Given the description of an element on the screen output the (x, y) to click on. 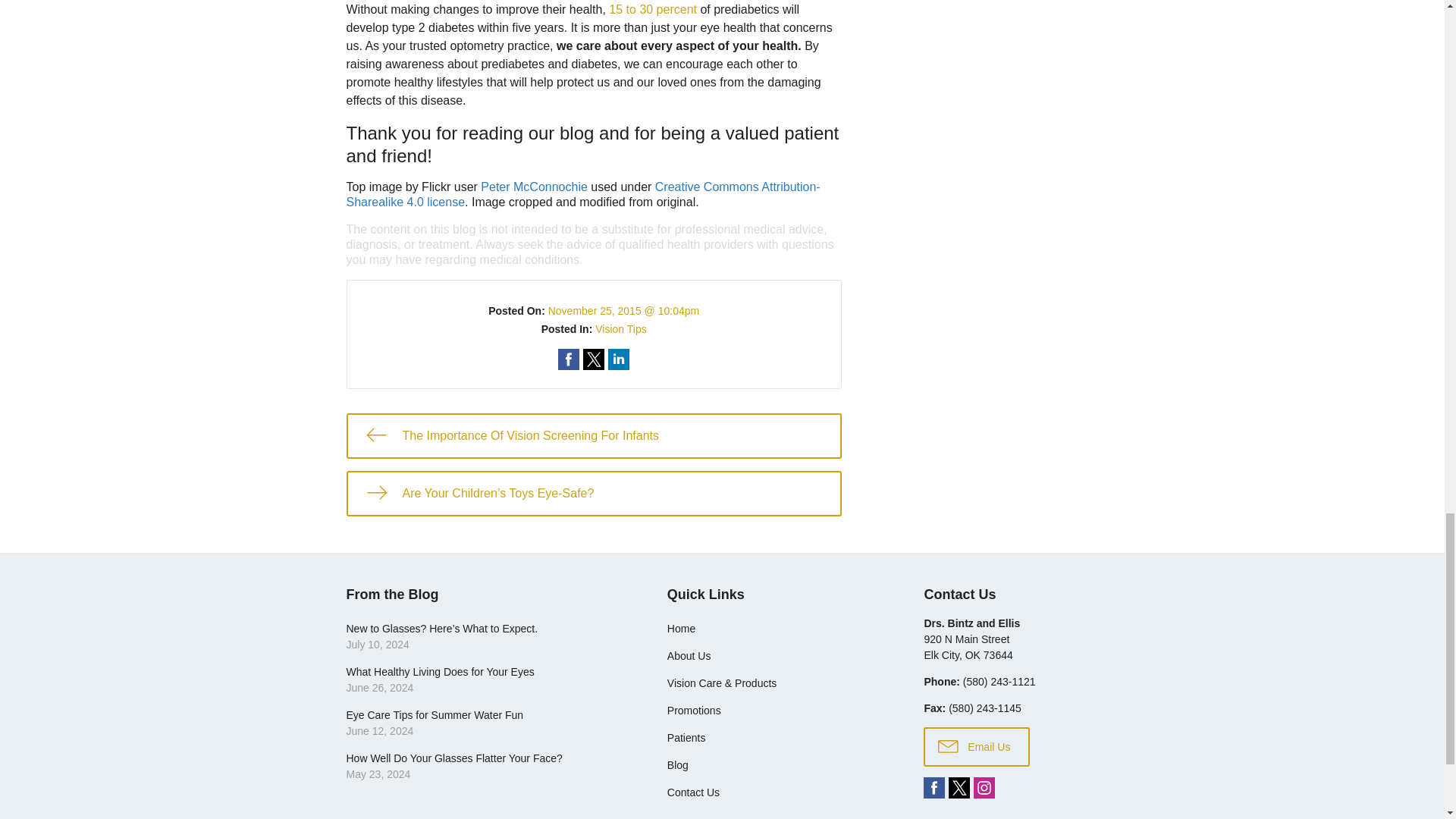
Go to our Instagram Page (984, 787)
The Importance Of Vision Screening For Infants (593, 435)
Share on LinkedIn (618, 359)
Share on Twitter (593, 359)
Vision Tips (620, 328)
Share on Facebook (568, 359)
Share on Twitter (593, 359)
Peter McConnochie (534, 186)
Creative Commons Attribution-Sharealike 4.0 license (582, 194)
Share on Facebook (568, 359)
15 to 30 percent (652, 9)
Share on LinkedIn (618, 359)
Go to our Facebook Page (933, 787)
Contact practice (998, 681)
Open this address in Google Maps (967, 646)
